Given the description of an element on the screen output the (x, y) to click on. 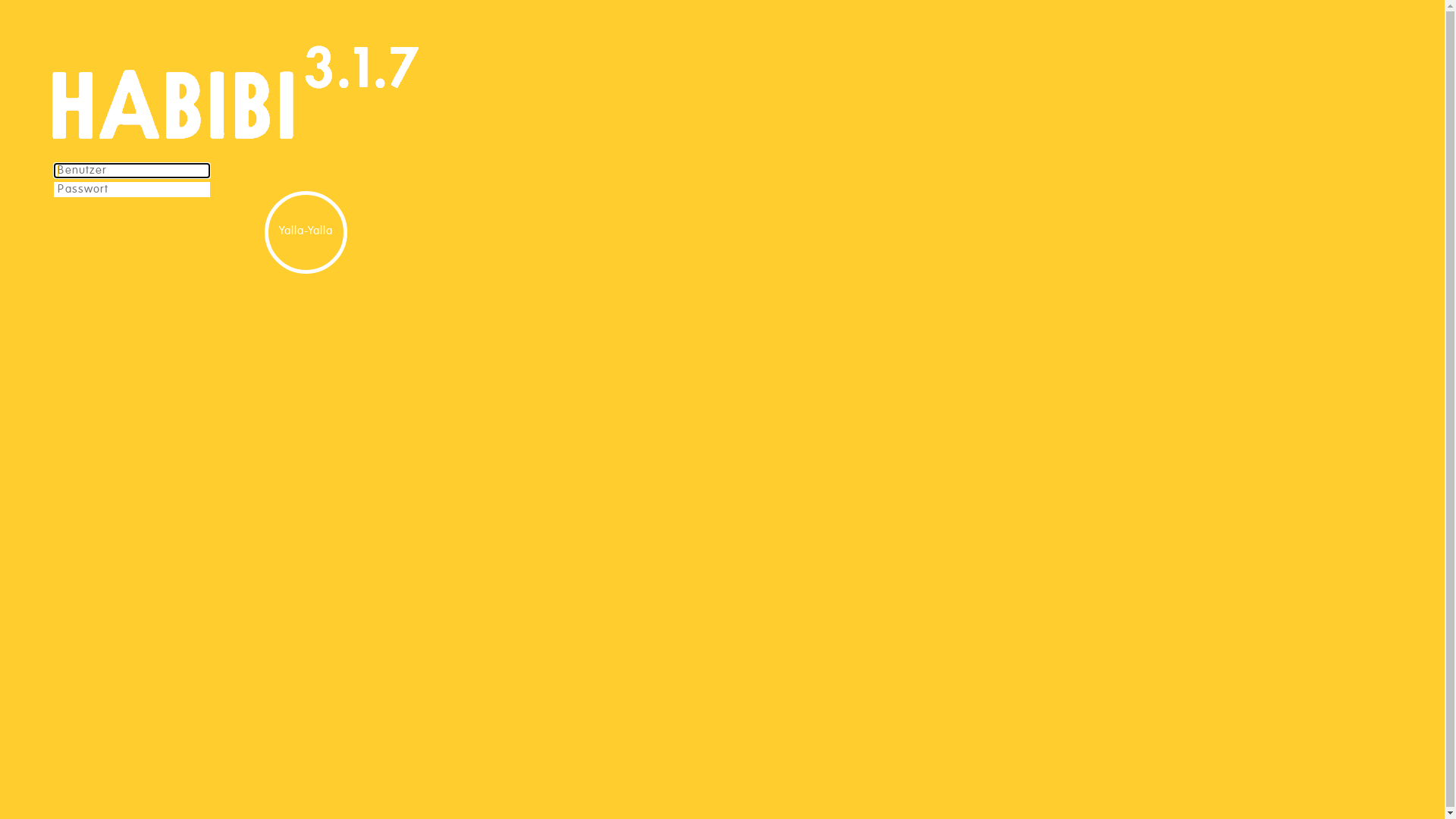
Habibi Element type: hover (343, 90)
Habibi Element type: hover (361, 90)
Habibi Element type: hover (318, 90)
Yalla-Yalla Element type: text (305, 232)
Habibi Element type: hover (379, 90)
Habibi Element type: hover (403, 90)
Habibi Element type: hover (175, 90)
